Given the description of an element on the screen output the (x, y) to click on. 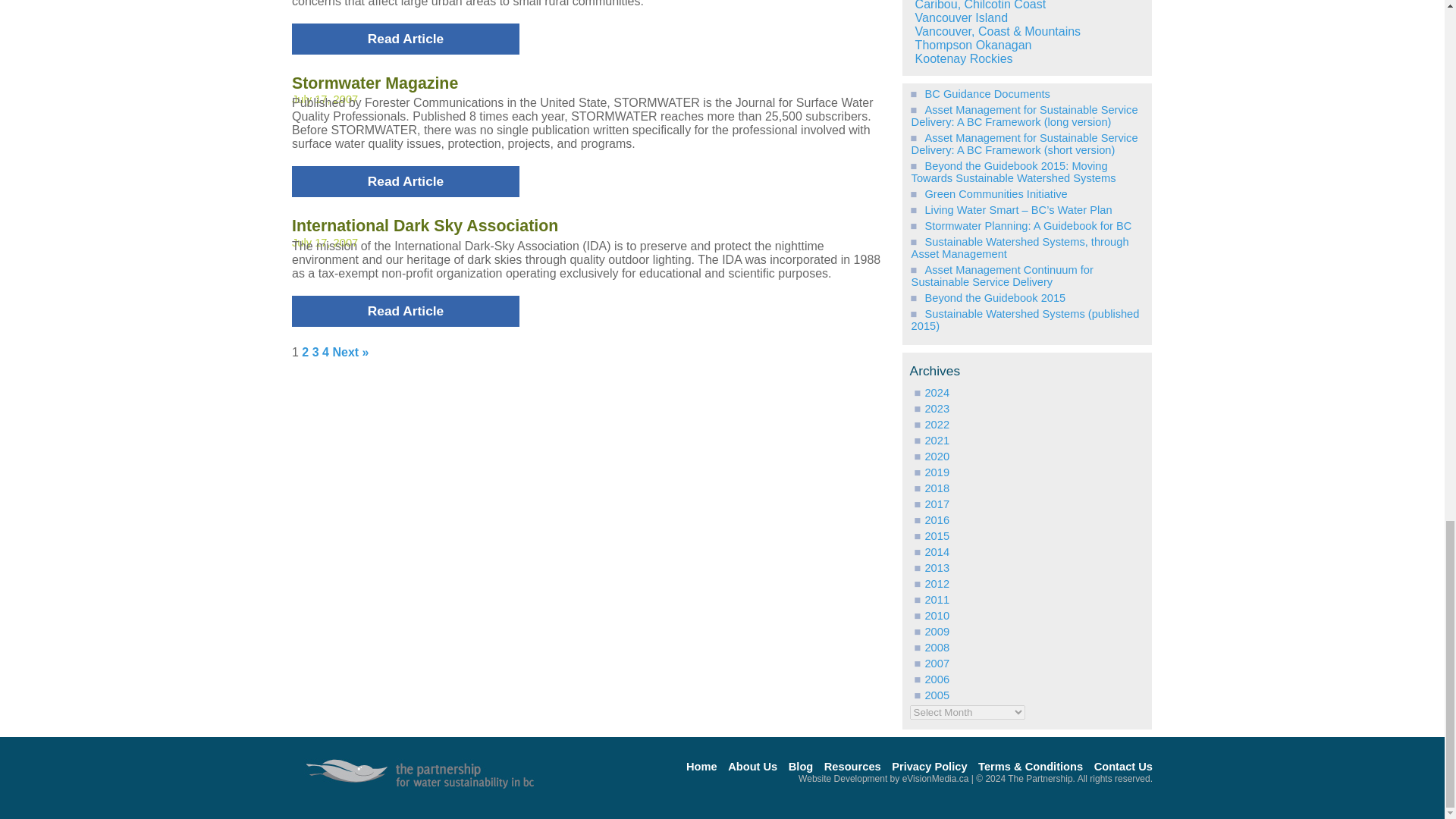
Permalink to Stormwater Magazine (375, 83)
International Dark Sky Association (424, 226)
Permalink to International Dark Sky Association (424, 226)
Read Article (405, 38)
Read Article (405, 181)
Stormwater Magazine (375, 83)
Read Article (405, 310)
